Given the description of an element on the screen output the (x, y) to click on. 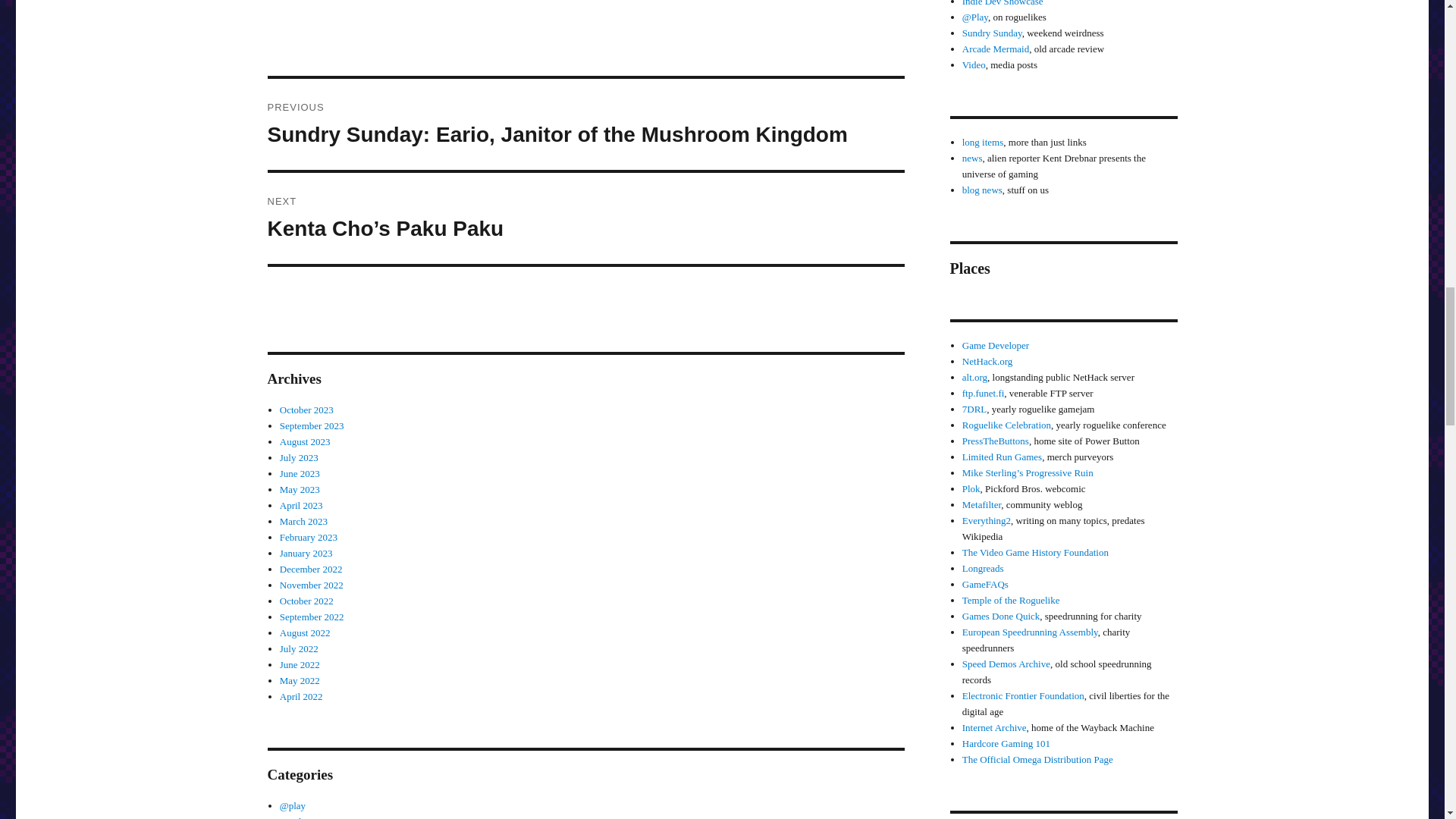
December 2022 (310, 568)
July 2023 (298, 457)
February 2023 (308, 536)
June 2023 (299, 473)
April 2023 (301, 505)
August 2023 (304, 441)
September 2023 (311, 425)
March 2023 (303, 521)
November 2022 (311, 584)
January 2023 (306, 552)
October 2023 (306, 409)
May 2023 (299, 489)
